Given the description of an element on the screen output the (x, y) to click on. 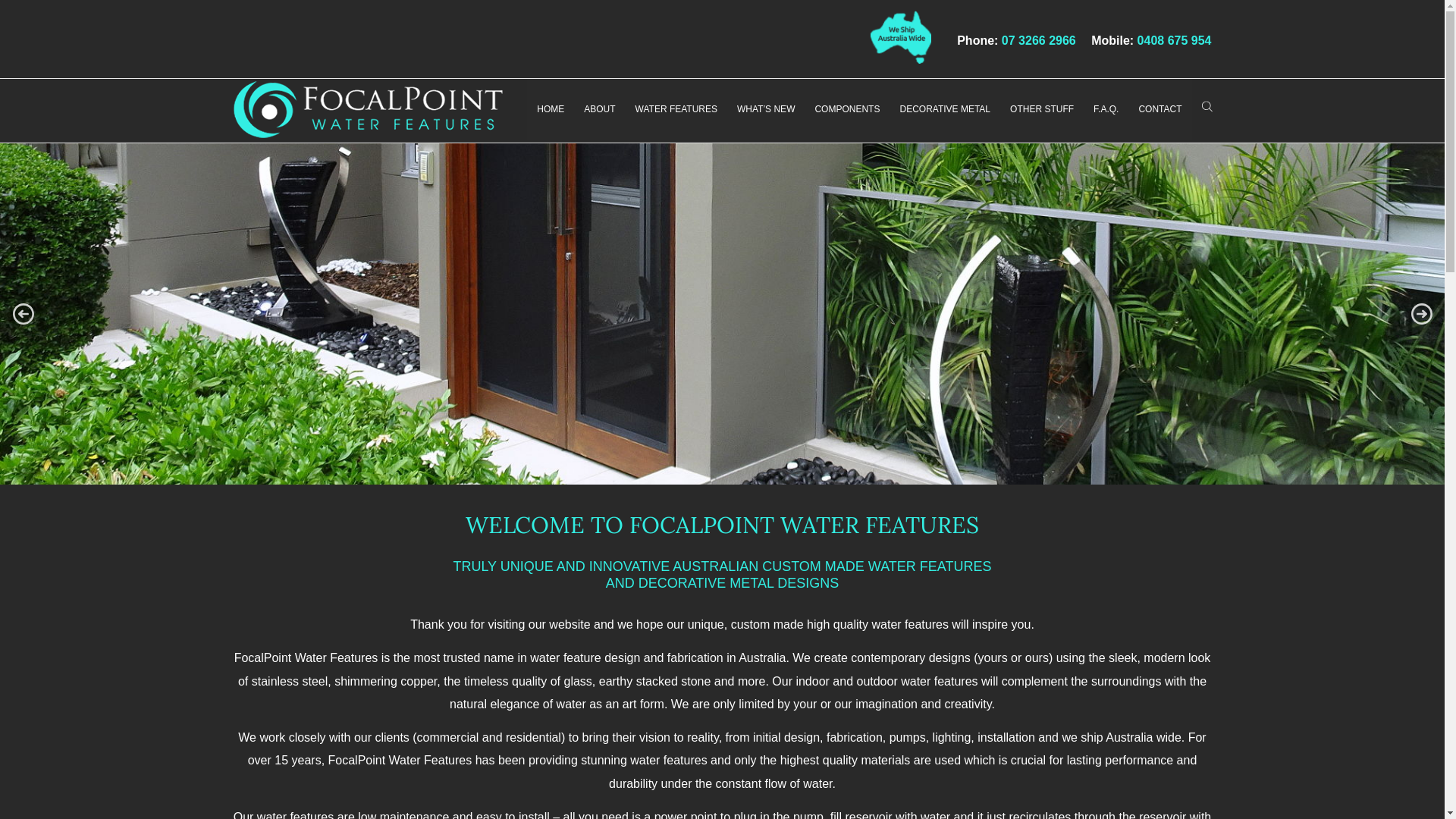
COMPONENTS Element type: text (846, 107)
CONTACT Element type: text (1159, 107)
HOME Element type: text (550, 107)
WATER FEATURES Element type: text (676, 107)
DECORATIVE METAL Element type: text (944, 107)
OTHER STUFF Element type: text (1041, 107)
ABOUT Element type: text (599, 107)
F.A.Q. Element type: text (1105, 107)
